Given the description of an element on the screen output the (x, y) to click on. 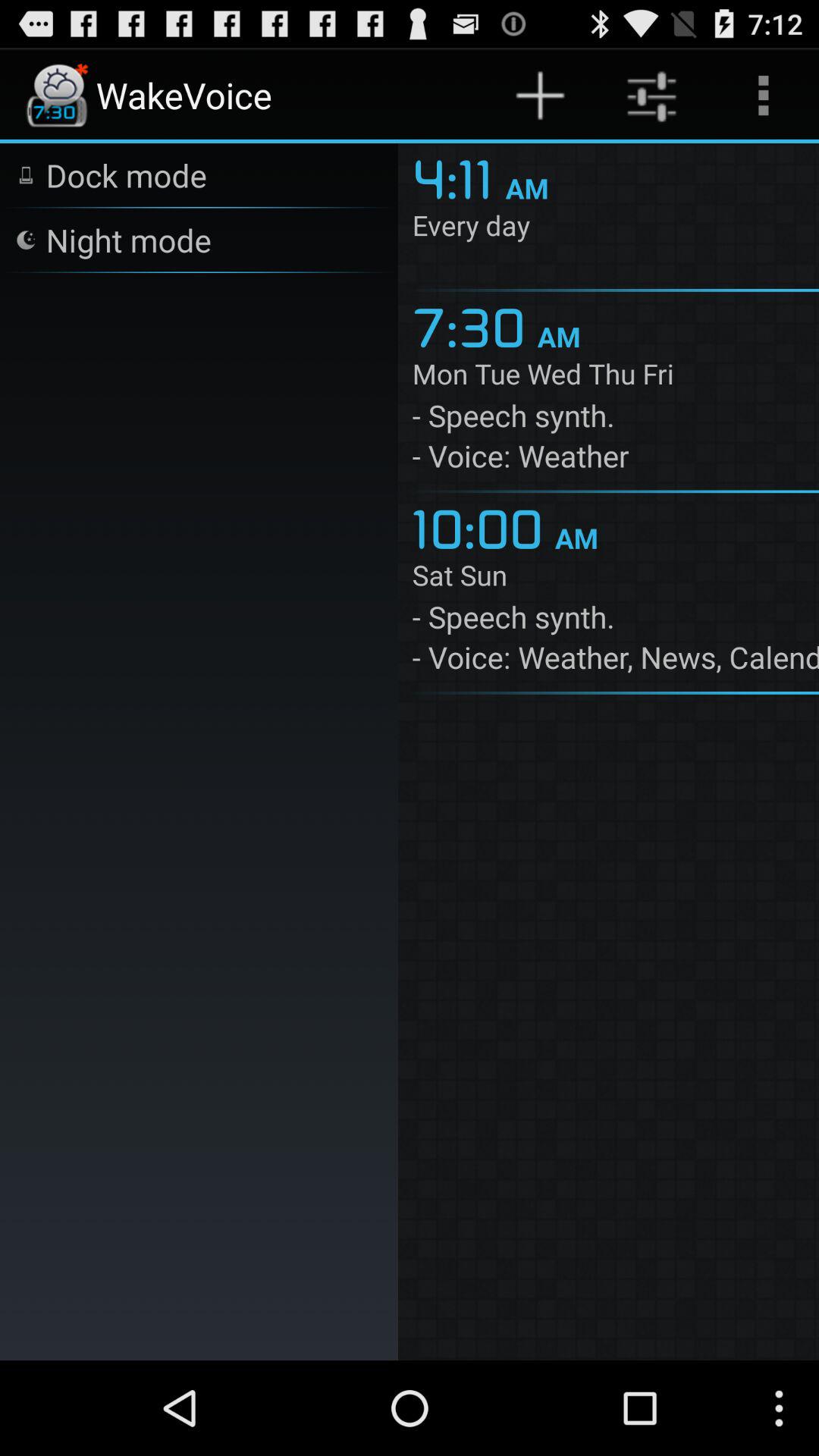
press the icon next to am item (483, 526)
